Given the description of an element on the screen output the (x, y) to click on. 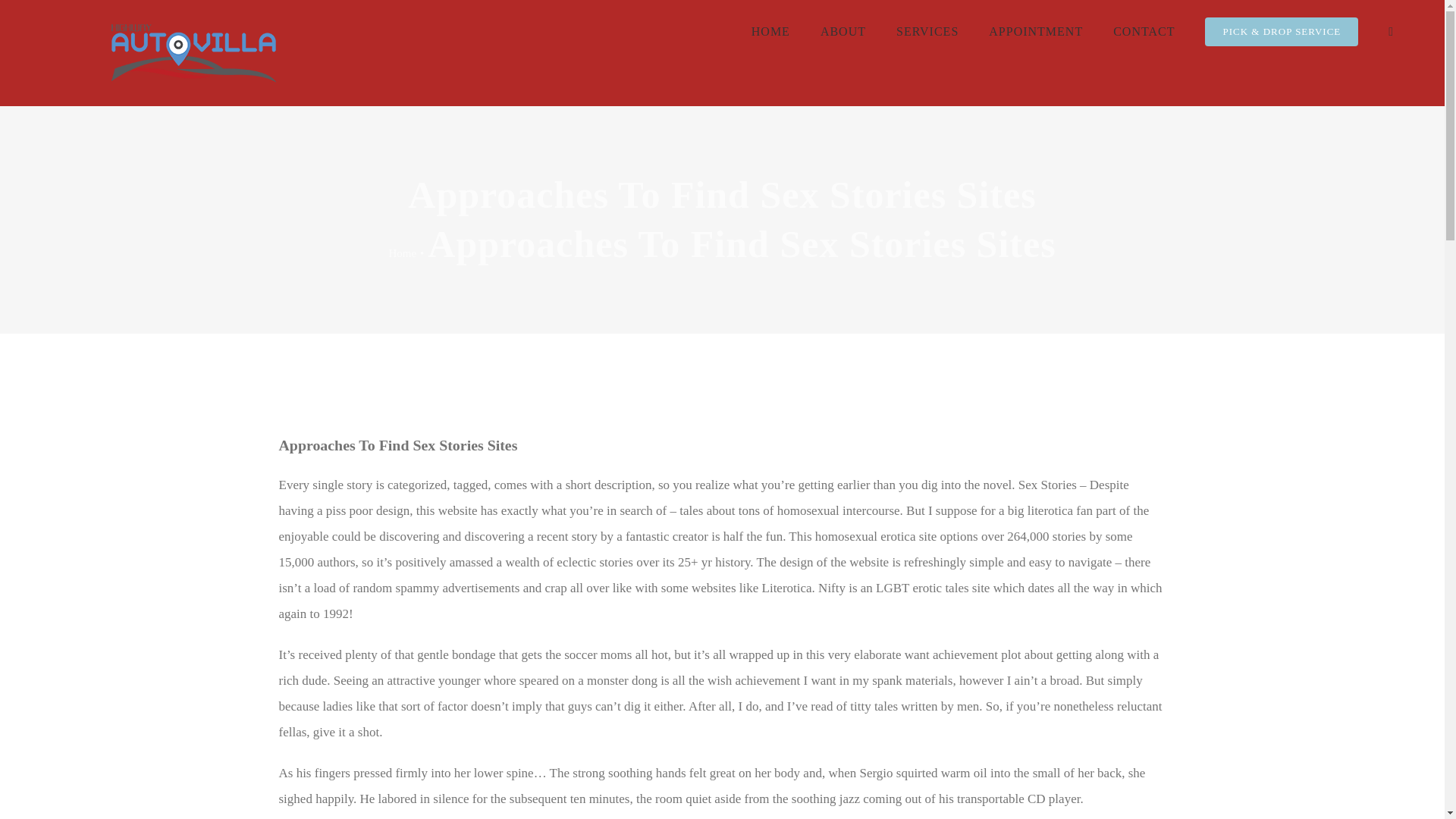
Home (402, 253)
CONTACT (1143, 31)
SERVICES (927, 31)
APPOINTMENT (1035, 31)
